Given the description of an element on the screen output the (x, y) to click on. 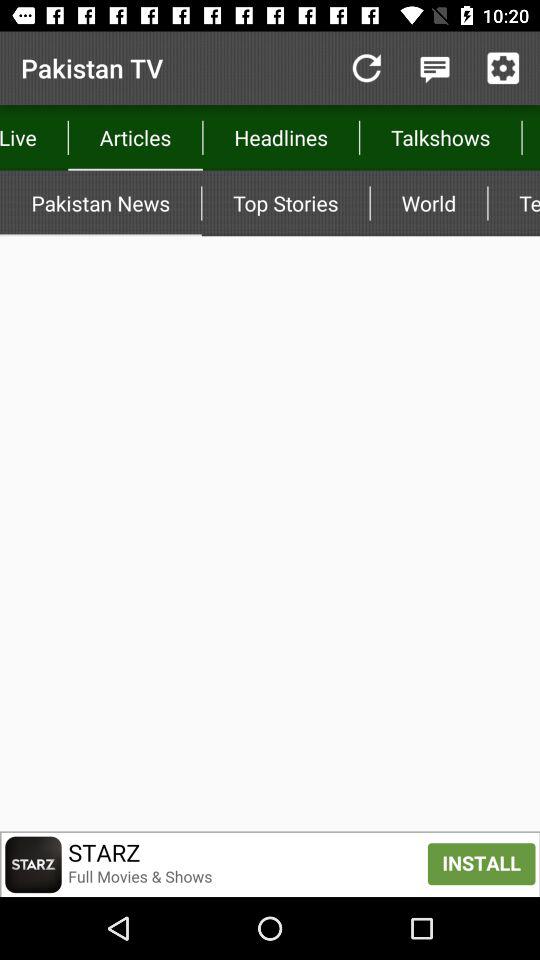
refresh (366, 67)
